Given the description of an element on the screen output the (x, y) to click on. 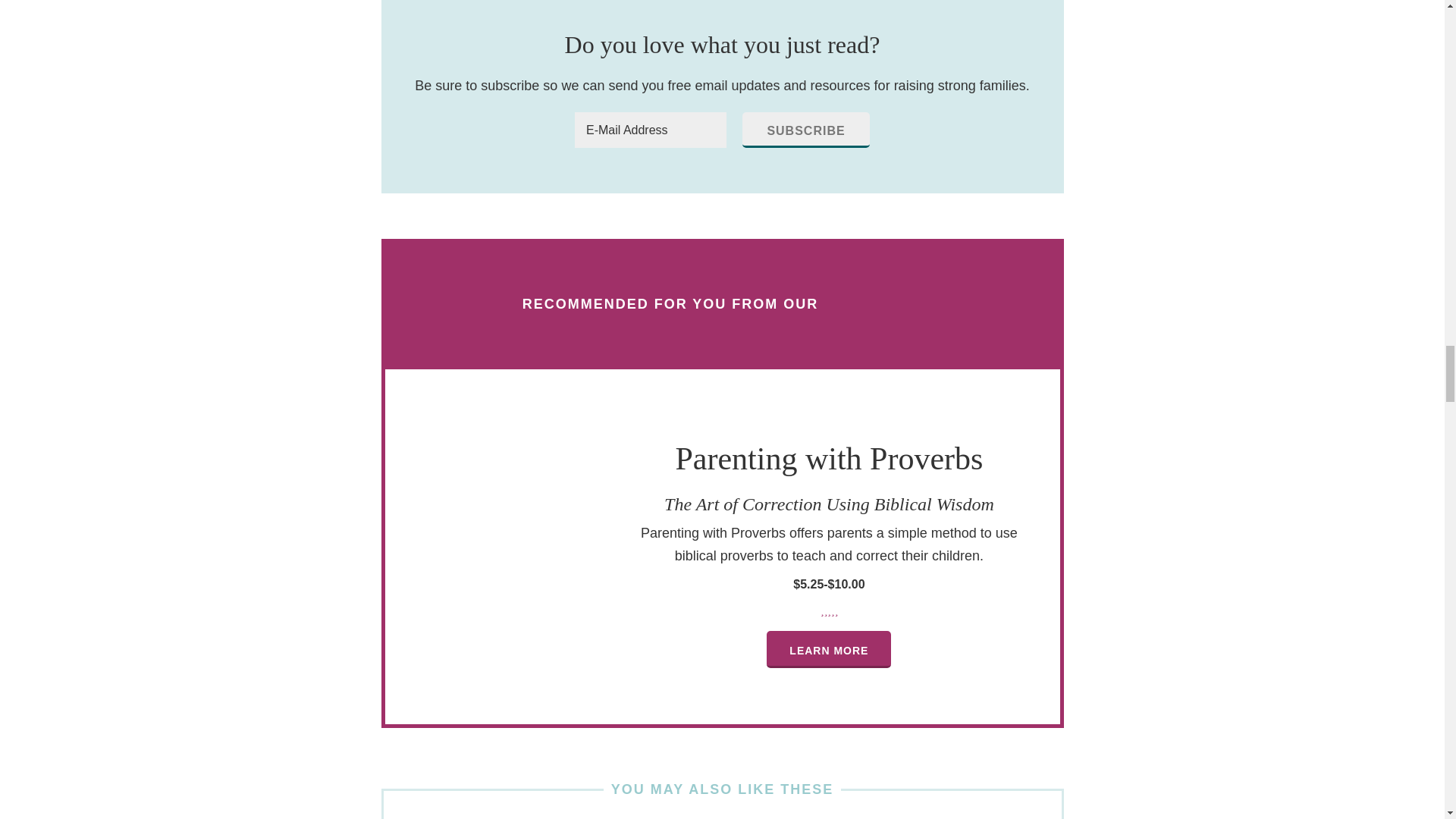
Subscribe (805, 130)
